Given the description of an element on the screen output the (x, y) to click on. 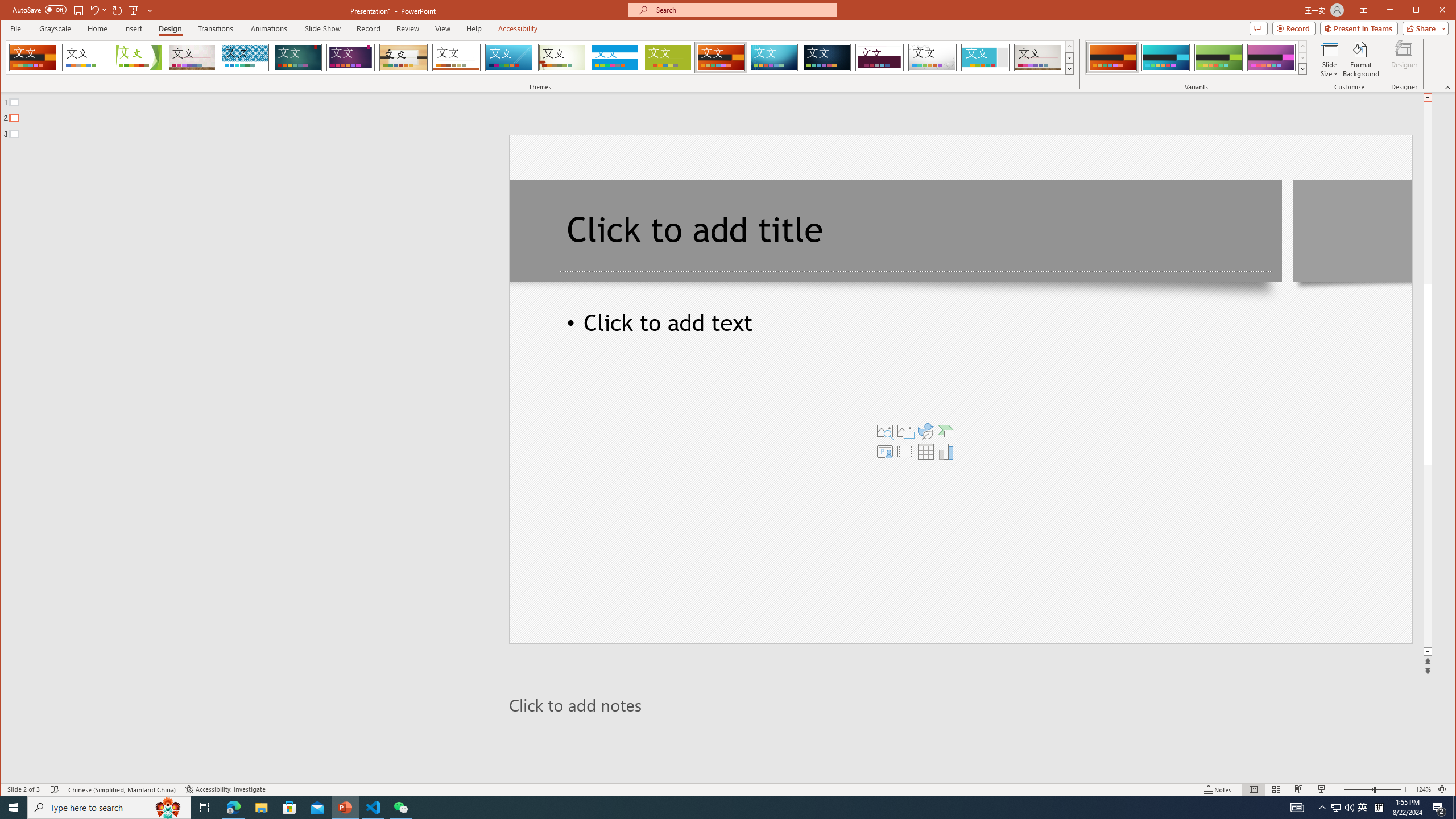
Basis (668, 57)
Berlin Variant 3 (1218, 57)
